Given the description of an element on the screen output the (x, y) to click on. 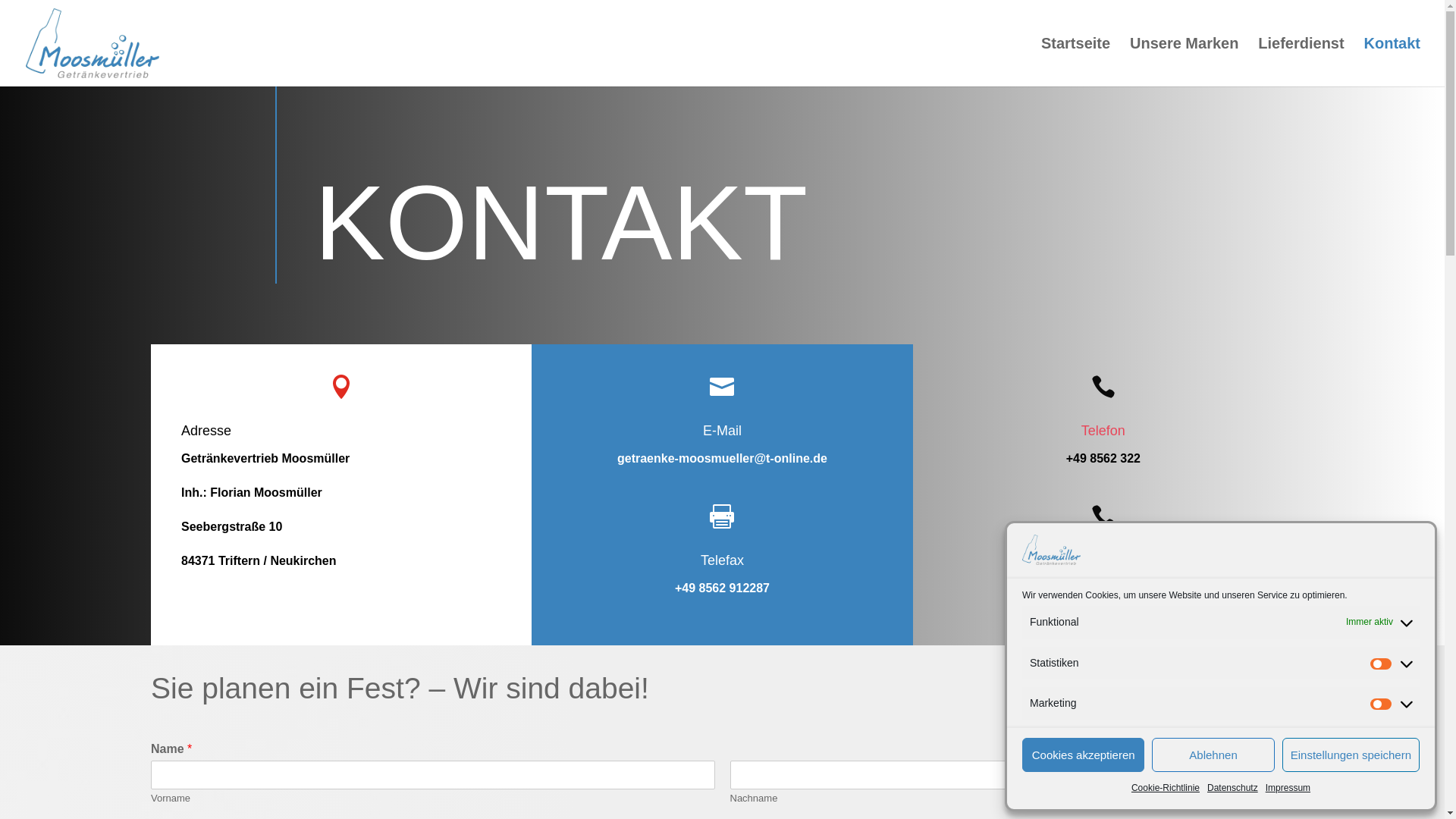
Impressum Element type: text (1287, 788)
Datenschutz Element type: text (1232, 788)
Ablehnen Element type: text (1212, 754)
Cookie-Richtlinie Element type: text (1165, 788)
Startseite Element type: text (1075, 61)
Einstellungen speichern Element type: text (1350, 754)
Cookies akzeptieren Element type: text (1083, 754)
Lieferdienst Element type: text (1300, 61)
Kontakt Element type: text (1392, 61)
Unsere Marken Element type: text (1183, 61)
